Given the description of an element on the screen output the (x, y) to click on. 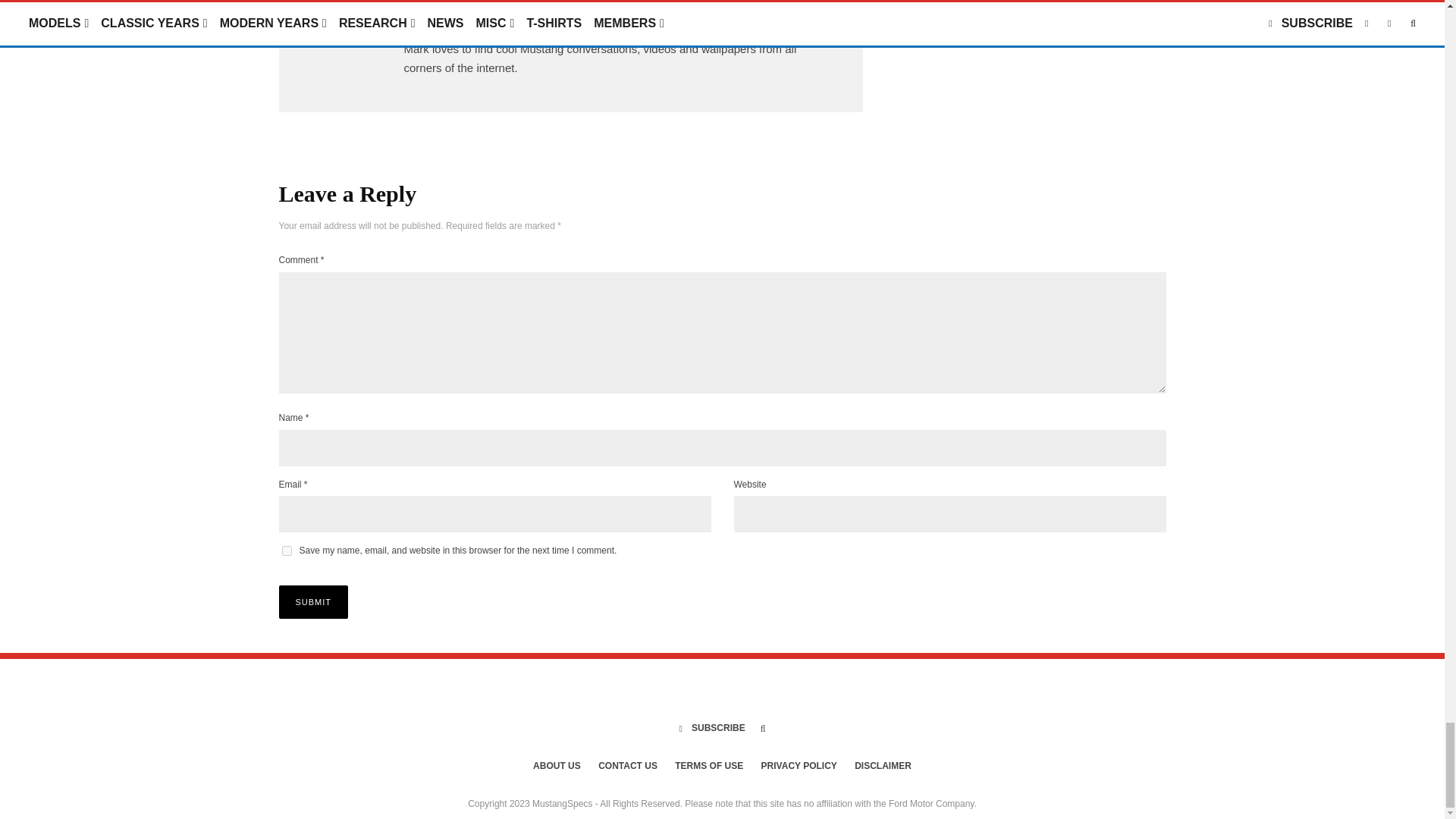
yes (287, 551)
Submit (314, 602)
